Given the description of an element on the screen output the (x, y) to click on. 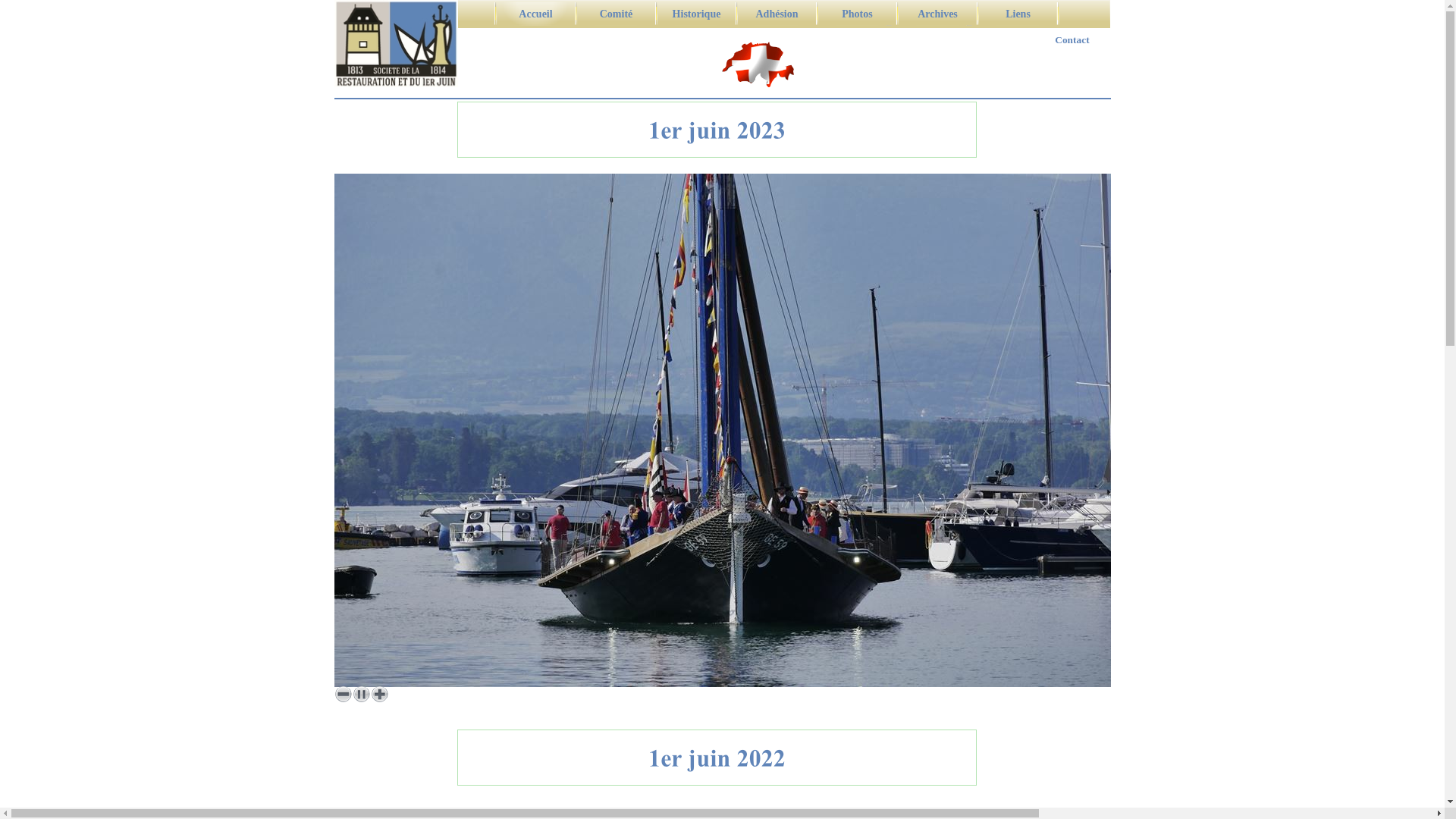
Suivant Element type: hover (379, 693)
Contact Element type: text (1071, 39)
Liens Element type: text (1017, 13)
Archives Element type: text (936, 13)
Historique Element type: text (695, 13)
Accueil Element type: text (534, 13)
Pause Element type: hover (360, 693)
Photos Element type: text (856, 13)
